Given the description of an element on the screen output the (x, y) to click on. 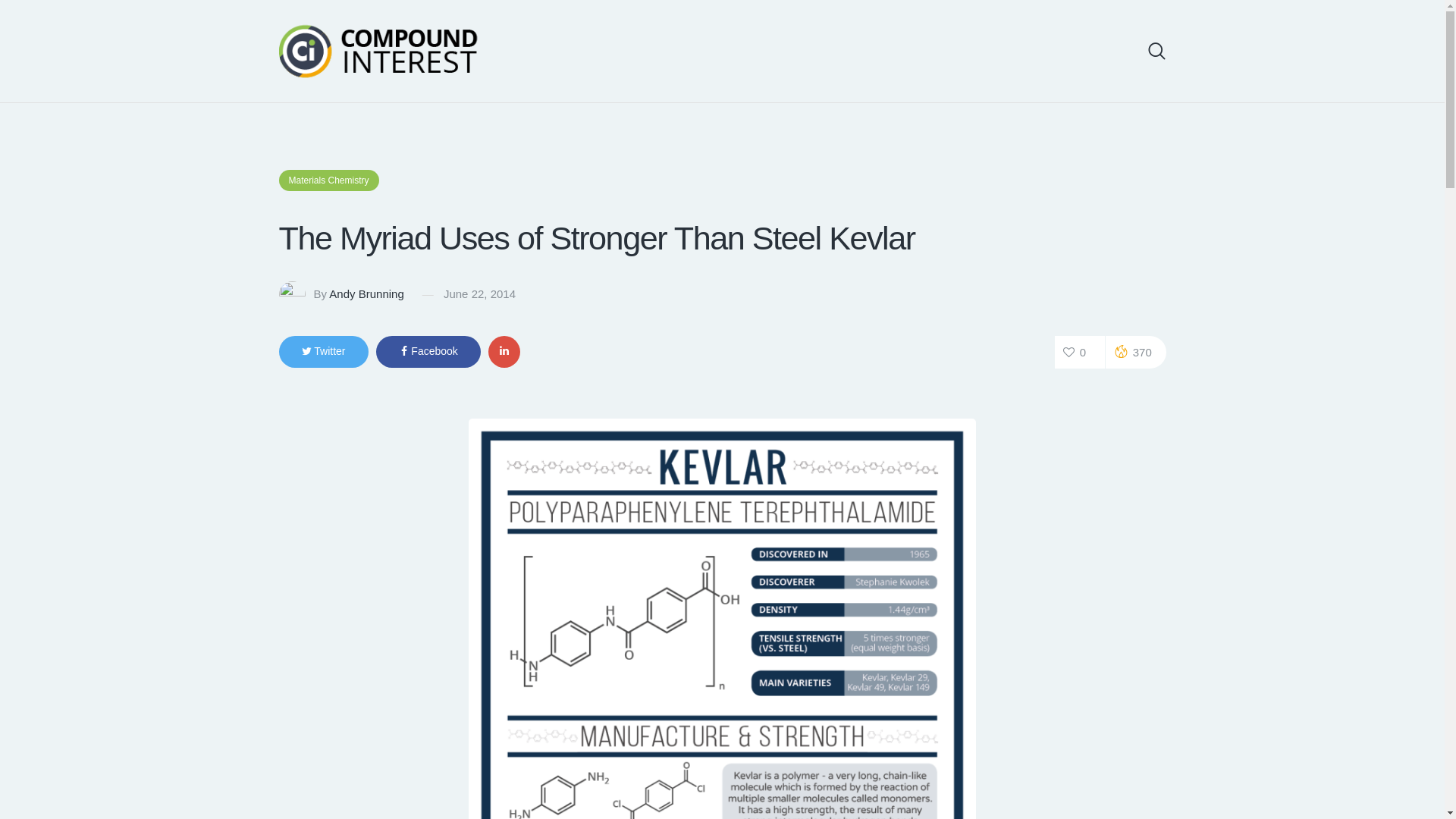
0 (1079, 352)
Materials Chemistry (328, 179)
Like (1079, 352)
Andy Brunning (366, 293)
Twitter (323, 351)
Facebook (427, 351)
